Given the description of an element on the screen output the (x, y) to click on. 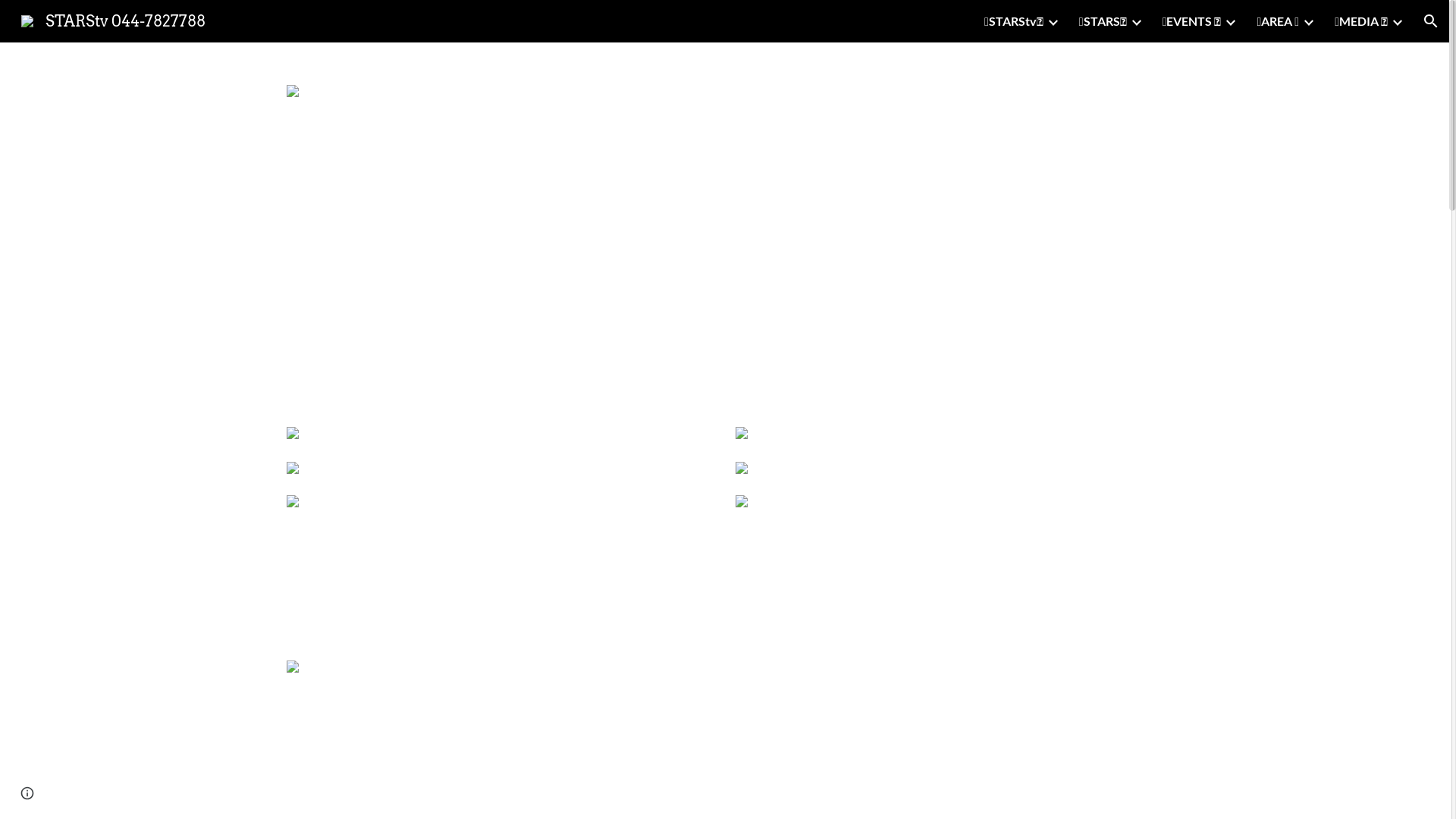
Expand/Collapse Element type: hover (1135, 20)
Expand/Collapse Element type: hover (1307, 20)
STARStv 044-7827788 Element type: text (113, 19)
Expand/Collapse Element type: hover (1396, 20)
Expand/Collapse Element type: hover (1052, 20)
Expand/Collapse Element type: hover (1229, 20)
